Given the description of an element on the screen output the (x, y) to click on. 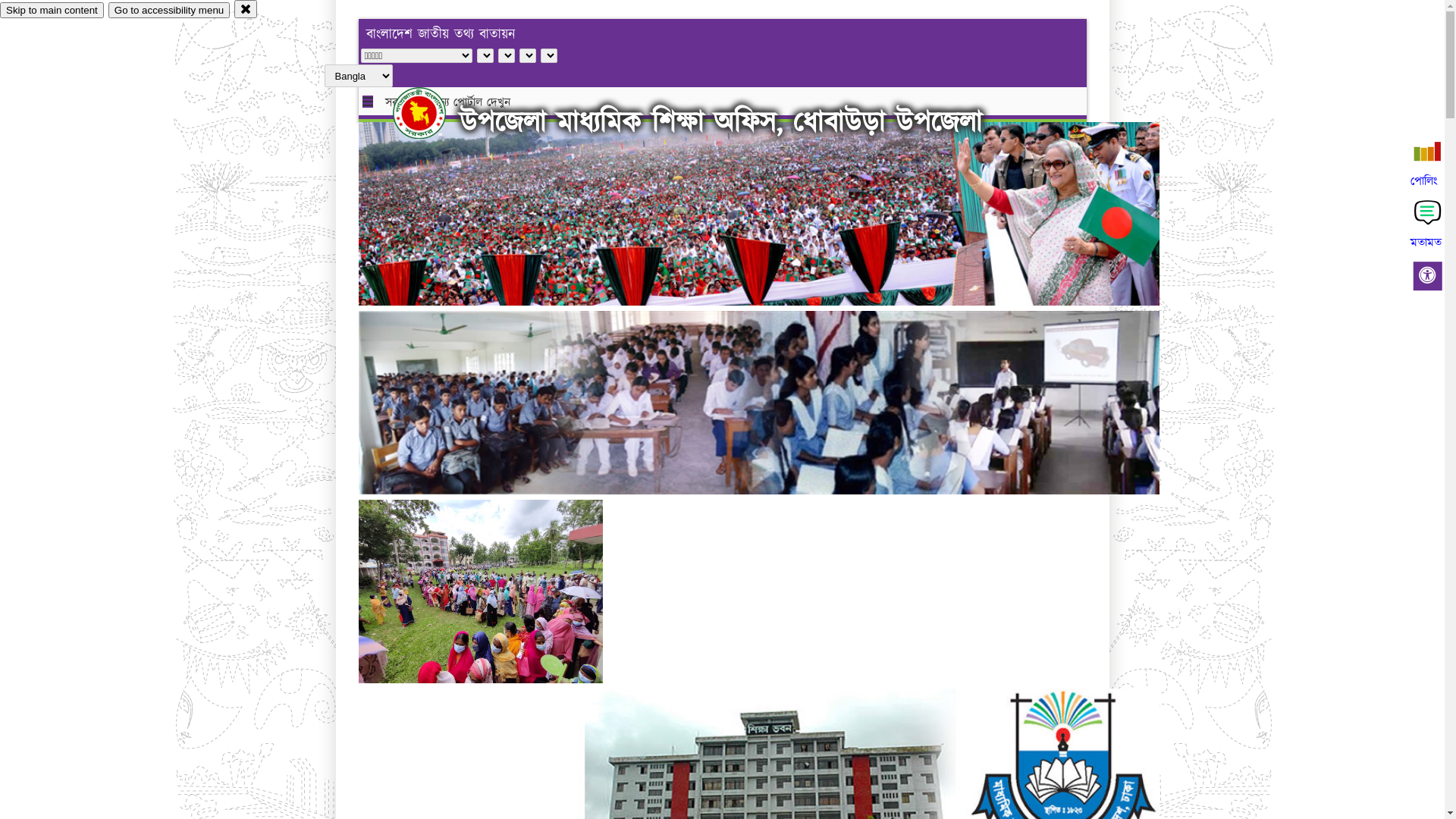
close Element type: hover (245, 9)

                
             Element type: hover (431, 112)
Skip to main content Element type: text (51, 10)
Go to accessibility menu Element type: text (168, 10)
